Given the description of an element on the screen output the (x, y) to click on. 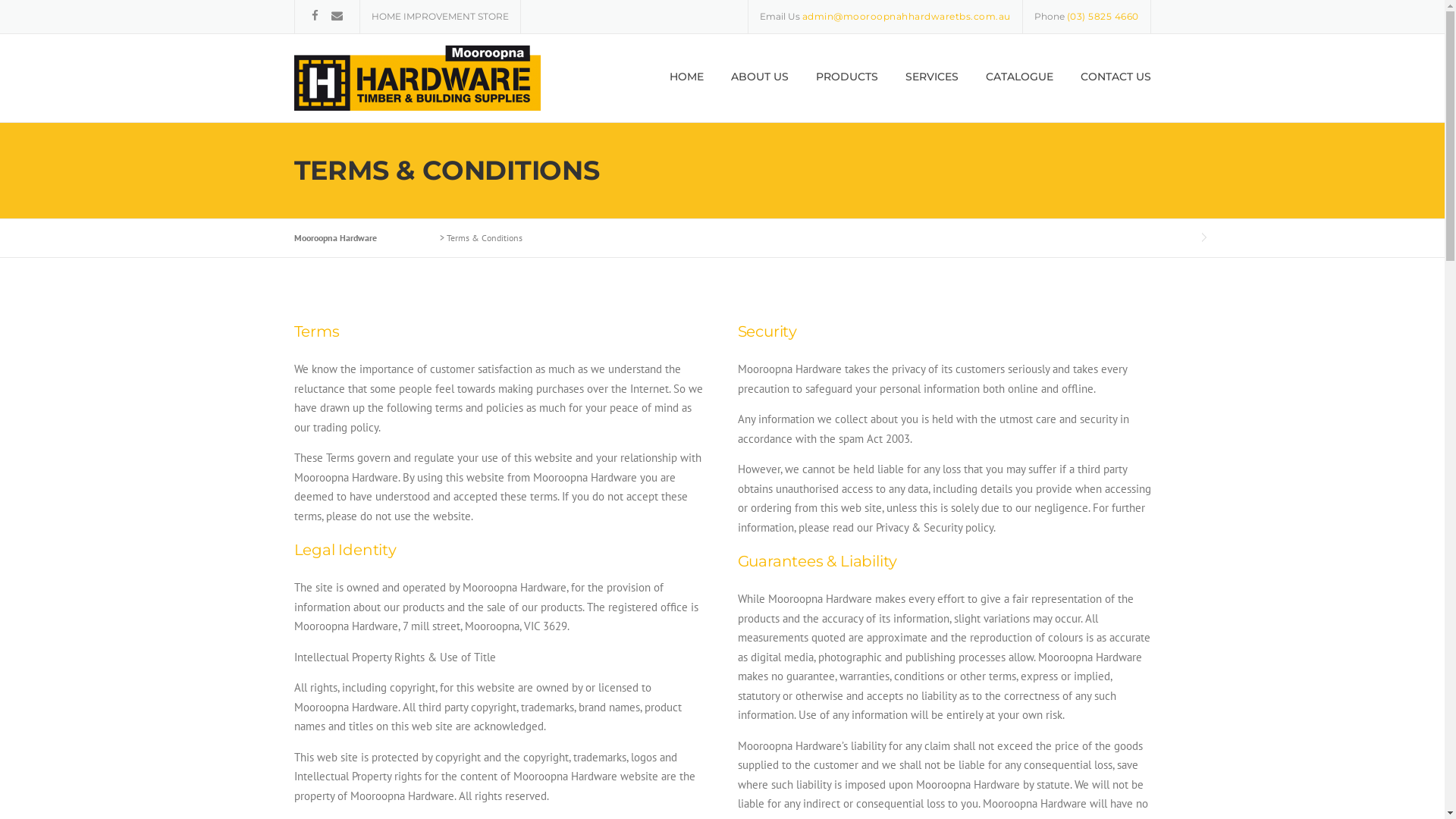
Email Element type: hover (336, 15)
SERVICES Element type: text (931, 90)
PRODUCTS Element type: text (846, 90)
HOME Element type: text (685, 90)
Mooroopna Hardware Element type: text (350, 237)
Facebook Element type: hover (313, 15)
ABOUT US Element type: text (759, 90)
Mooroopna Hardware Element type: hover (417, 76)
CONTACT US Element type: text (1108, 90)
CATALOGUE Element type: text (1019, 90)
